Given the description of an element on the screen output the (x, y) to click on. 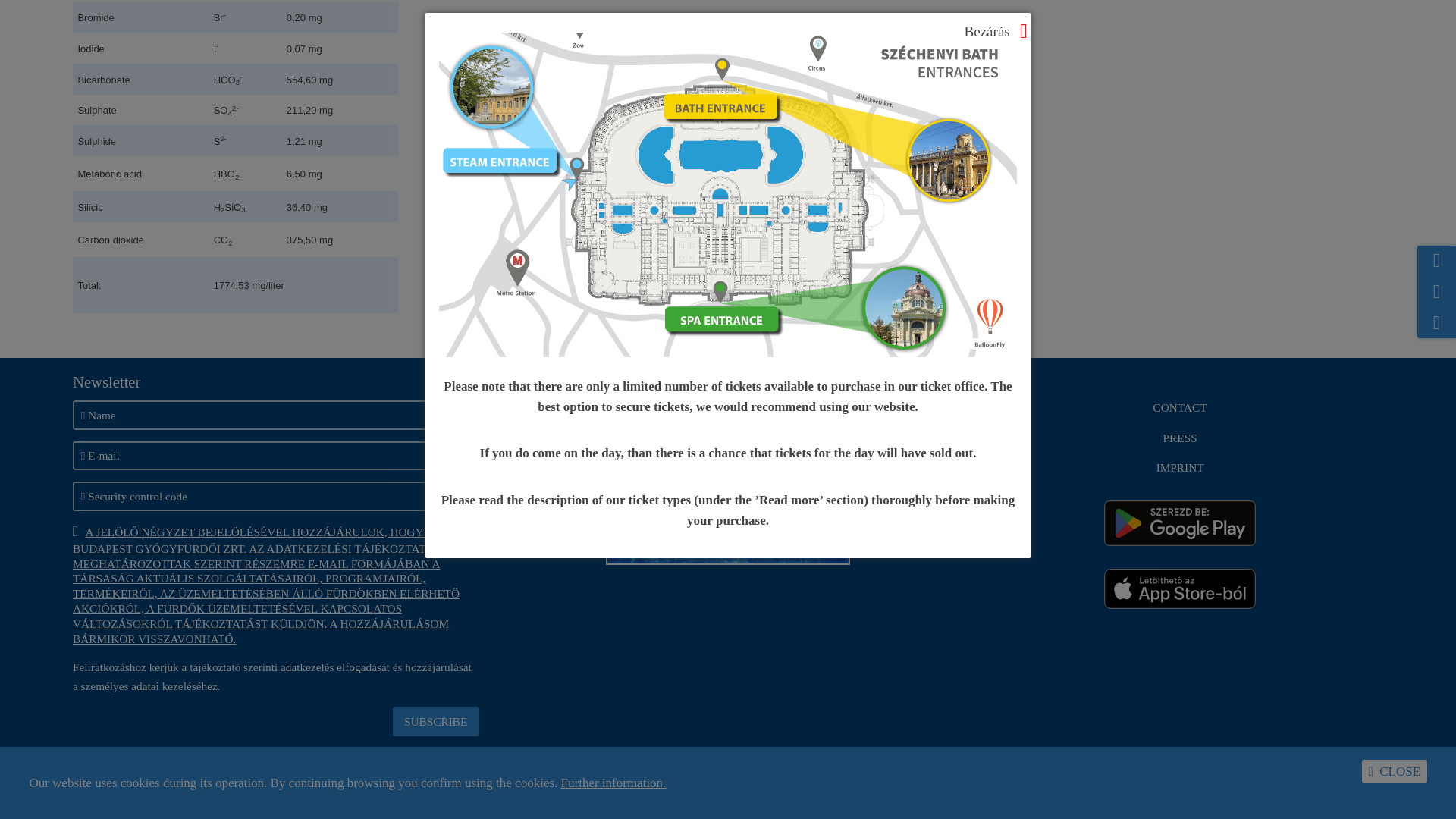
1 (436, 720)
